Given the description of an element on the screen output the (x, y) to click on. 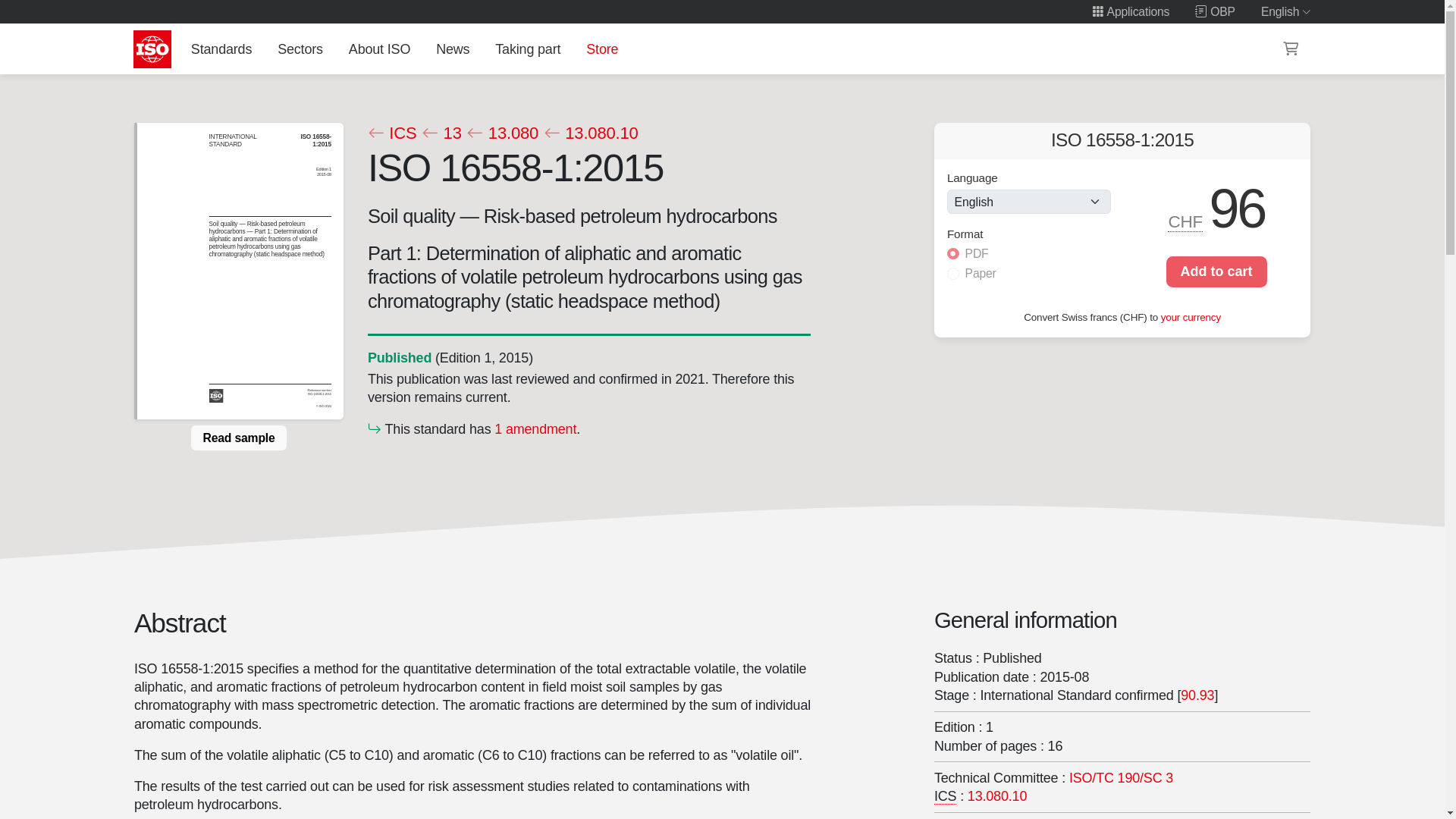
English (1285, 11)
your currency (1190, 316)
Sectors (300, 48)
About ISO (379, 48)
13.080.10 (590, 133)
1 amendment (535, 427)
13.080 (501, 133)
News (452, 48)
